Given the description of an element on the screen output the (x, y) to click on. 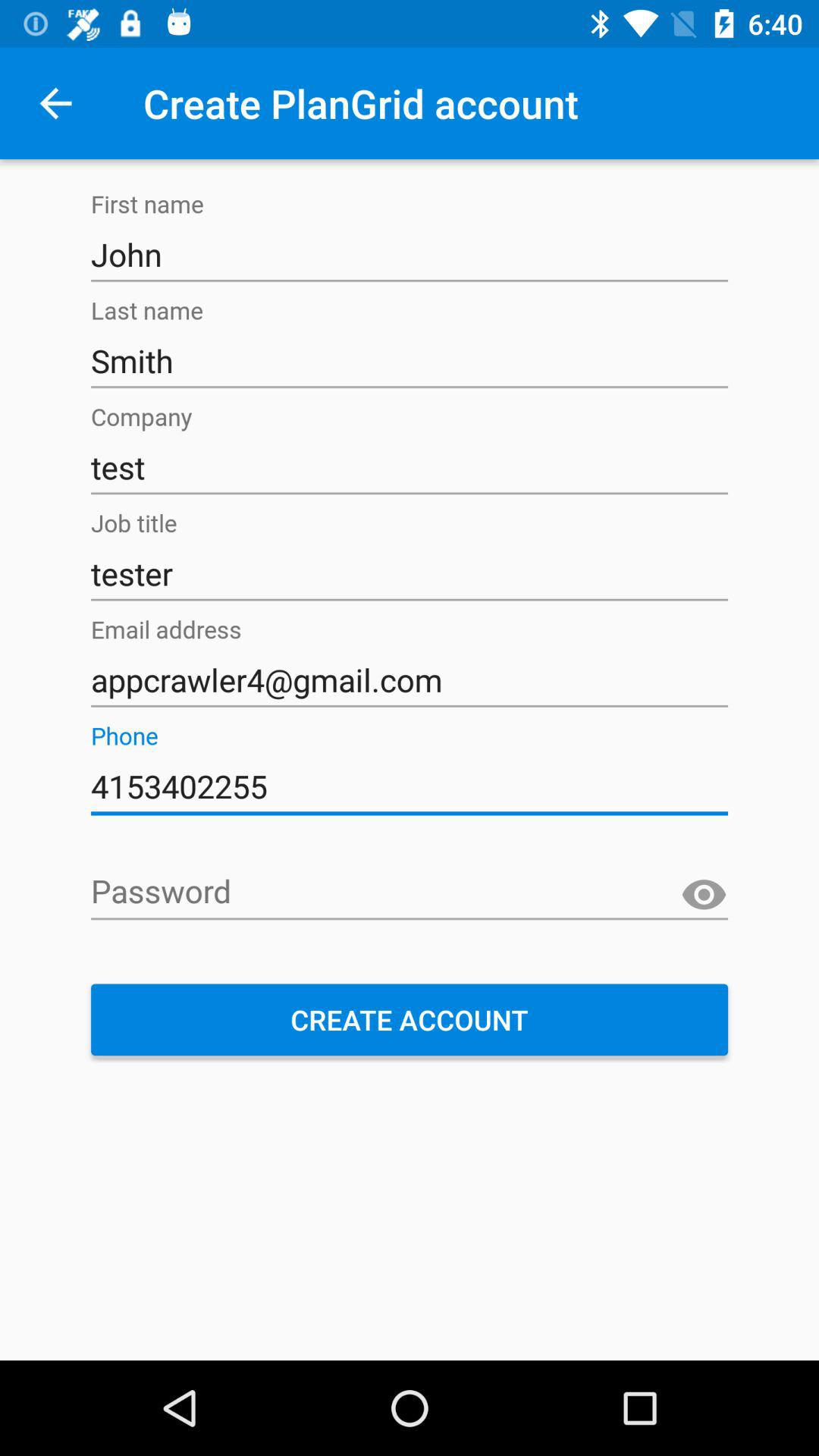
scroll to smith (409, 361)
